Given the description of an element on the screen output the (x, y) to click on. 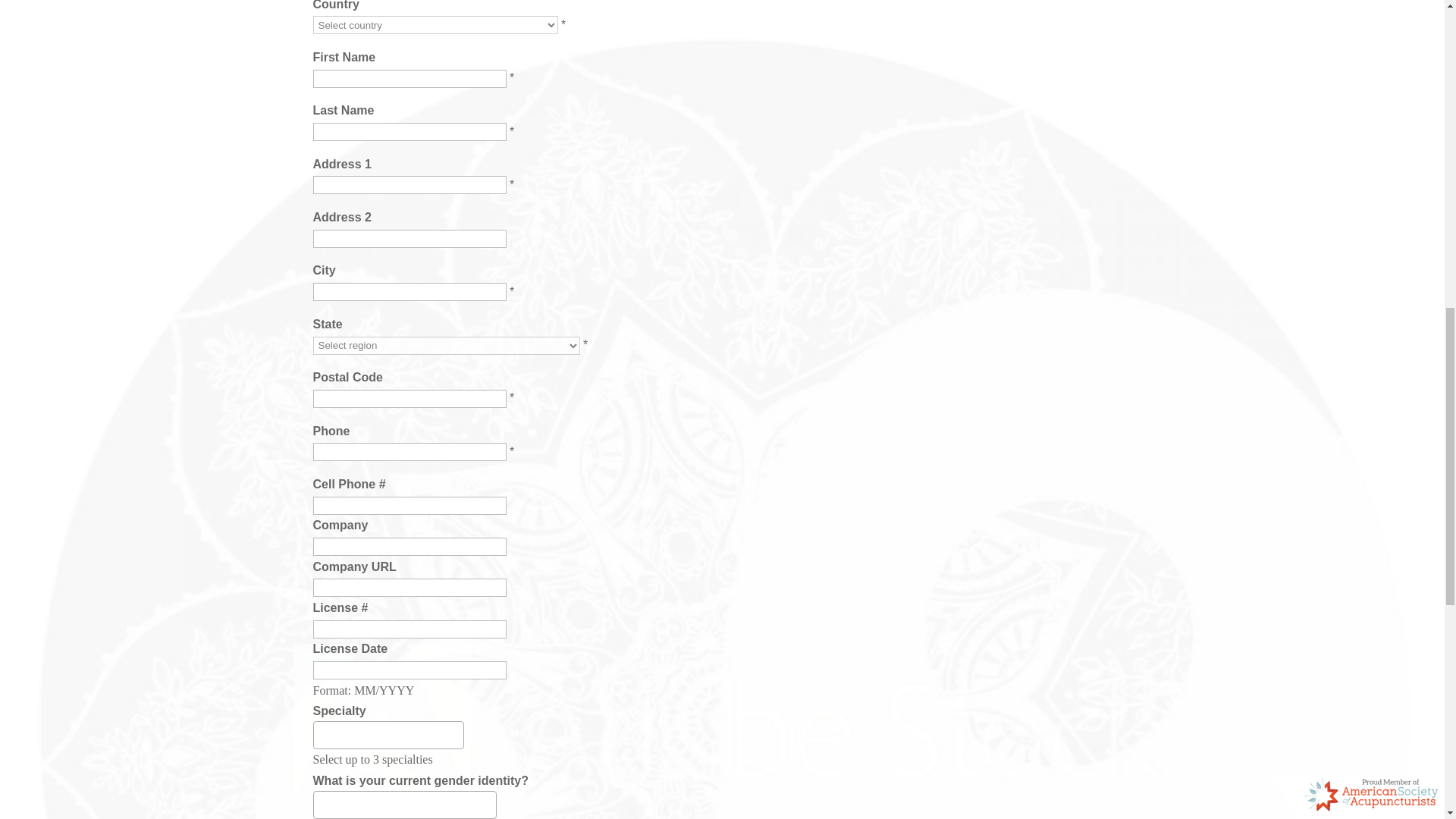
Required Field (585, 344)
Required Field (511, 184)
Required Field (511, 291)
Required Field (511, 451)
Required Field (511, 397)
Required Field (511, 77)
Required Field (511, 130)
Required Field (563, 24)
